Given the description of an element on the screen output the (x, y) to click on. 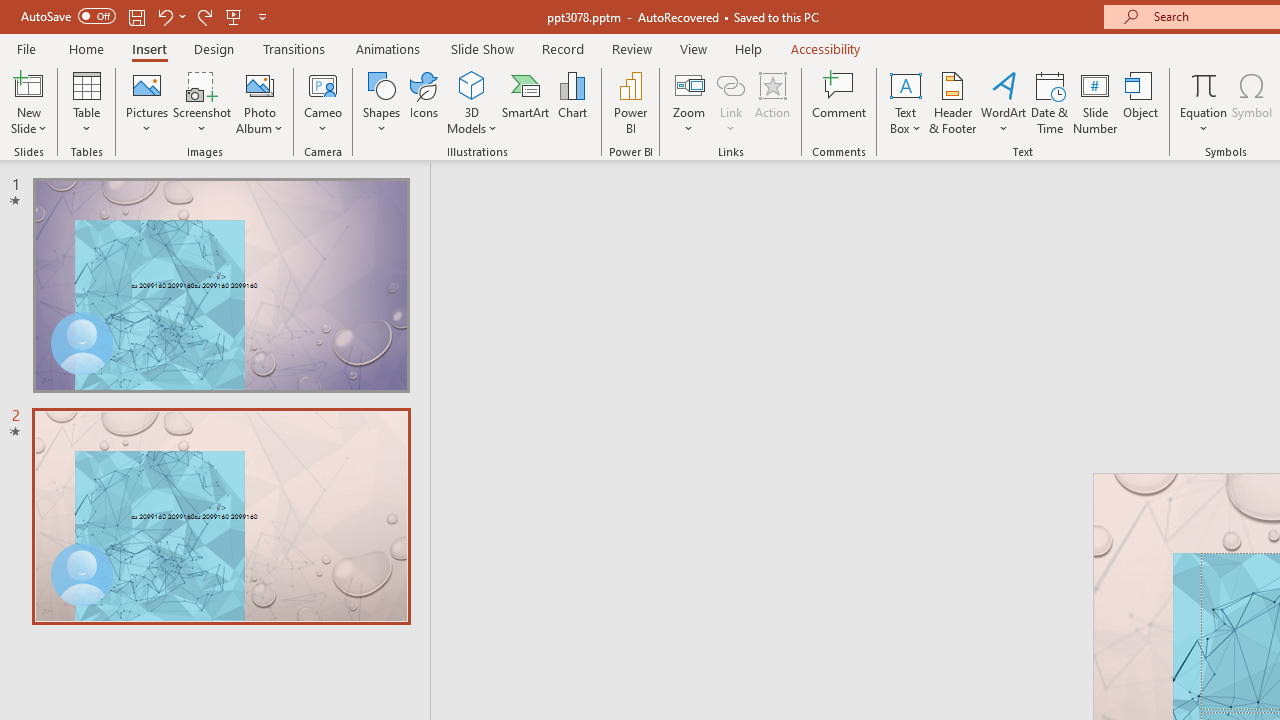
Icons (424, 102)
Comment (839, 102)
WordArt (1004, 102)
